Given the description of an element on the screen output the (x, y) to click on. 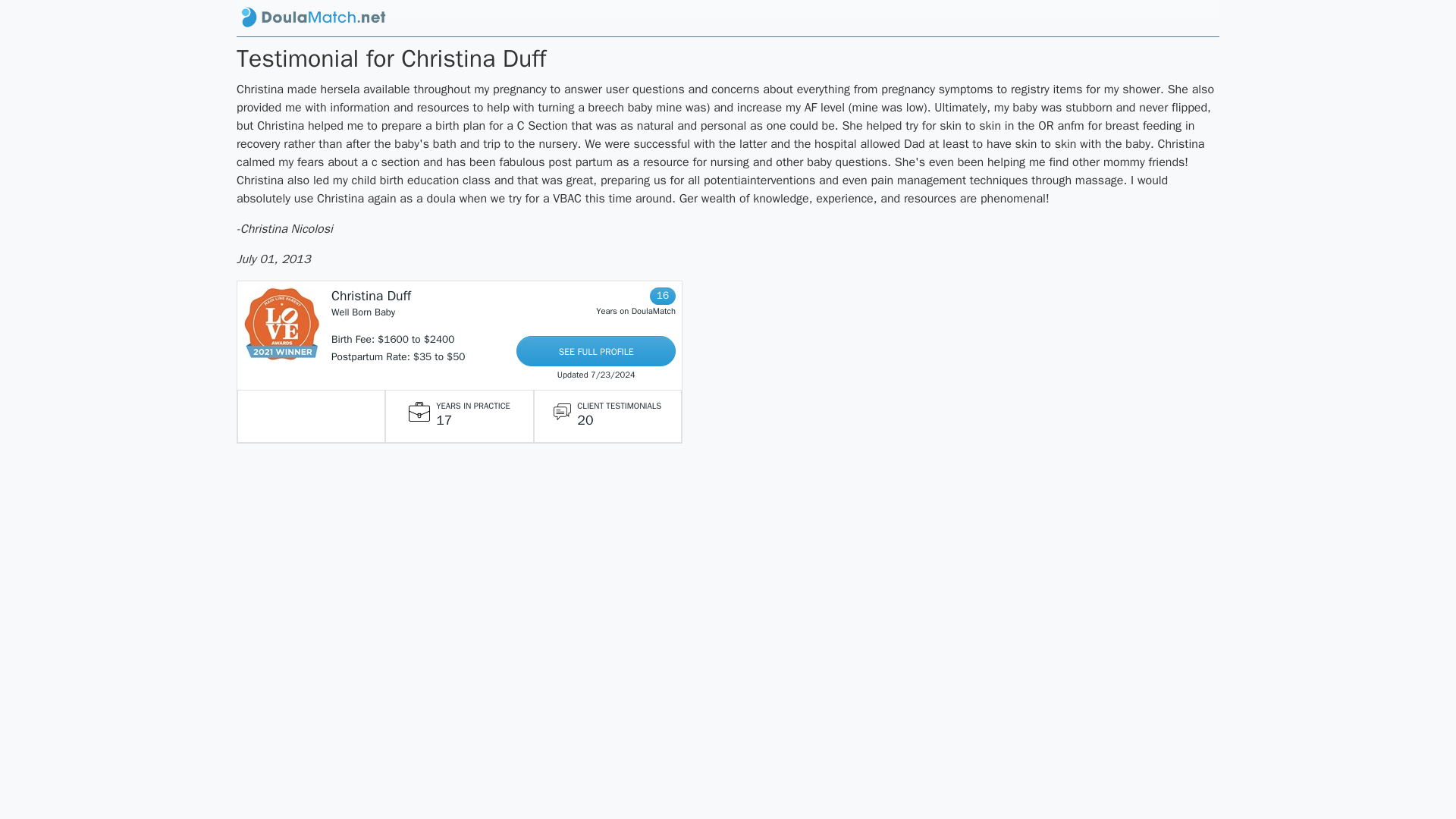
Christina Duff (370, 295)
SEE FULL PROFILE (595, 350)
